Given the description of an element on the screen output the (x, y) to click on. 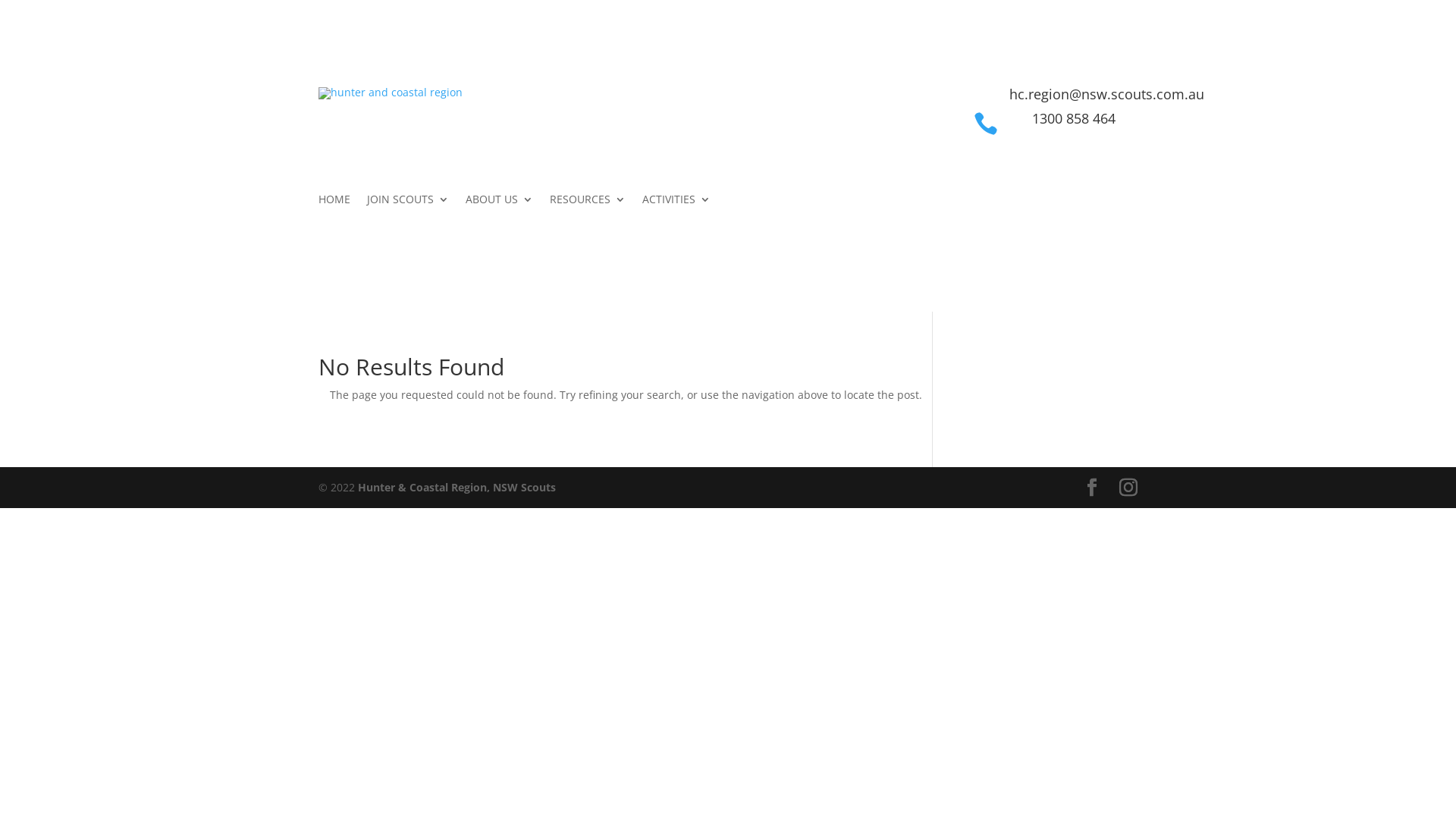
Follow on Facebook Element type: hover (1003, 206)
hunter and coastal scouts Element type: hover (390, 93)
ACTIVITIES Element type: text (676, 202)
Follow on Instagram Element type: hover (1125, 206)
ABOUT US Element type: text (499, 202)
HOME Element type: text (334, 202)
Follow on X Element type: hover (1034, 206)
Follow on LinkedIn Element type: hover (1094, 206)
hc.region@nsw.scouts.com.au Element type: text (1106, 93)
JOIN SCOUTS Element type: text (407, 202)
RESOURCES Element type: text (587, 202)
Follow on Pinterest Element type: hover (1064, 206)
Hunter & Coastal Region, NSW Scouts Element type: text (456, 487)
1300 858 464 Element type: text (1072, 118)
